Given the description of an element on the screen output the (x, y) to click on. 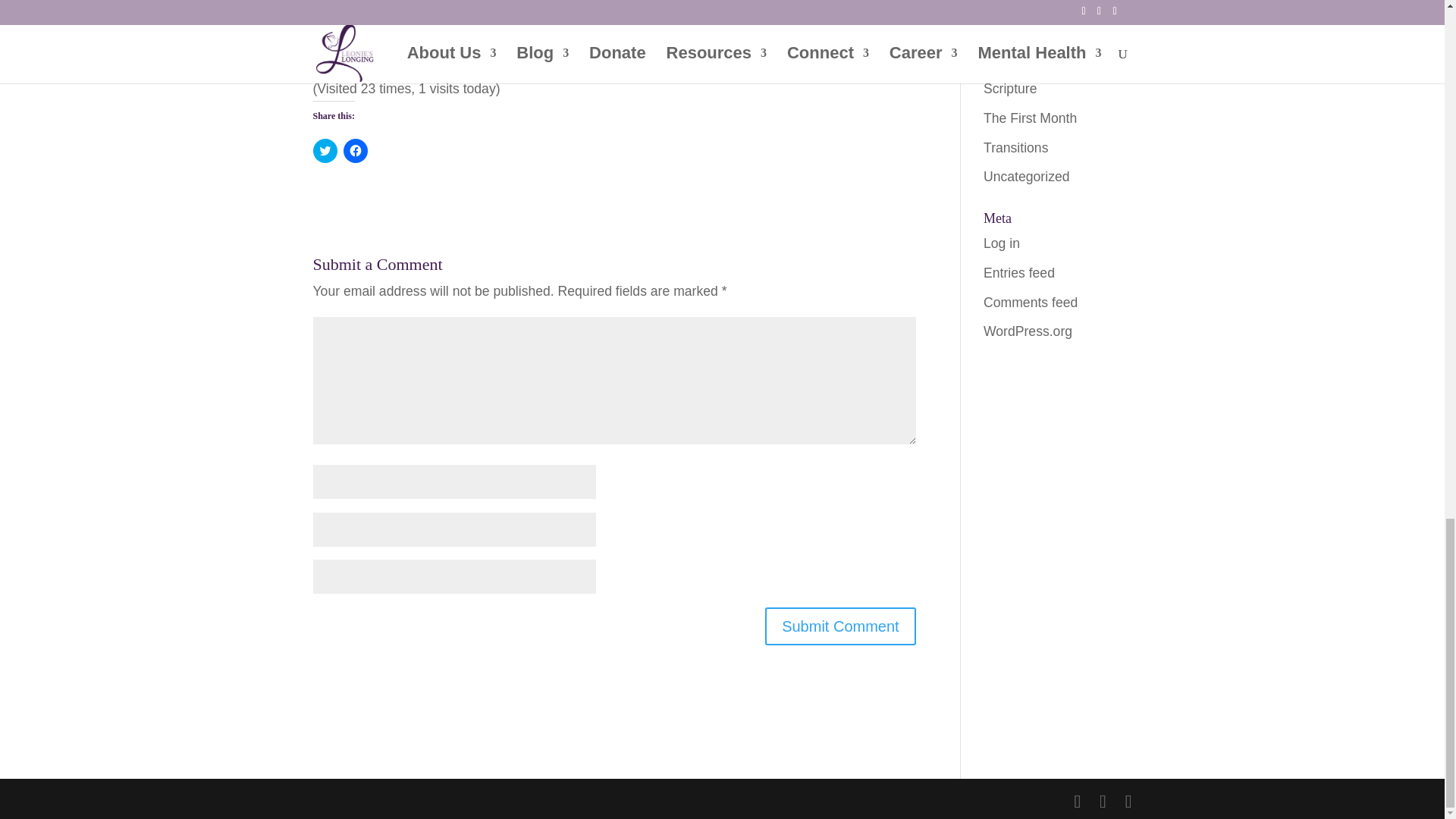
Submit Comment (840, 626)
Click to share on Twitter (324, 150)
Click to share on Facebook (354, 150)
